Given the description of an element on the screen output the (x, y) to click on. 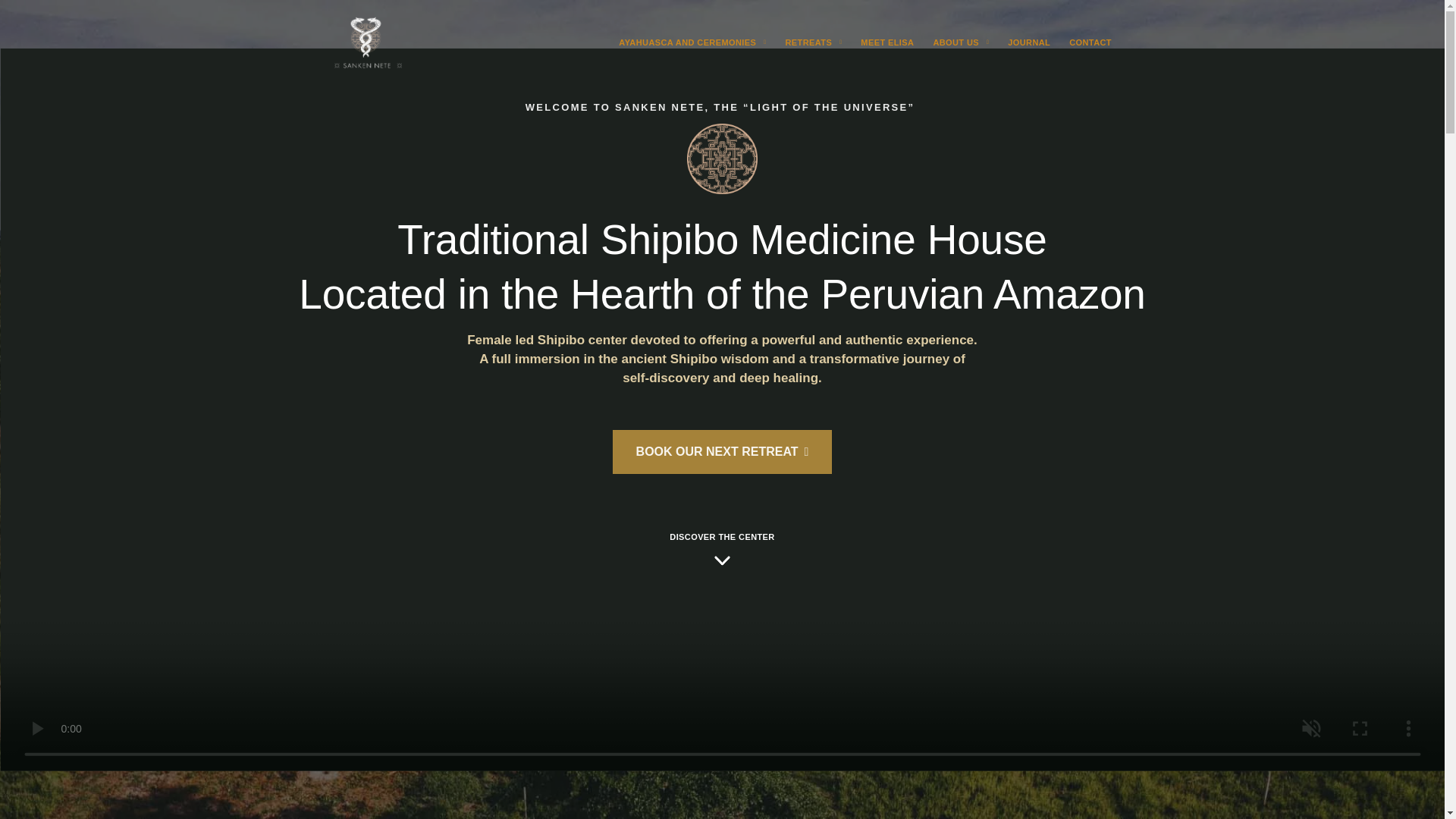
MEET ELISA (887, 42)
RETREATS (813, 42)
JOURNAL (1028, 42)
CONTACT (1090, 42)
BOOK OUR NEXT RETREAT (722, 451)
ABOUT US (960, 42)
AYAHUASCA AND CEREMONIES (692, 42)
